Given the description of an element on the screen output the (x, y) to click on. 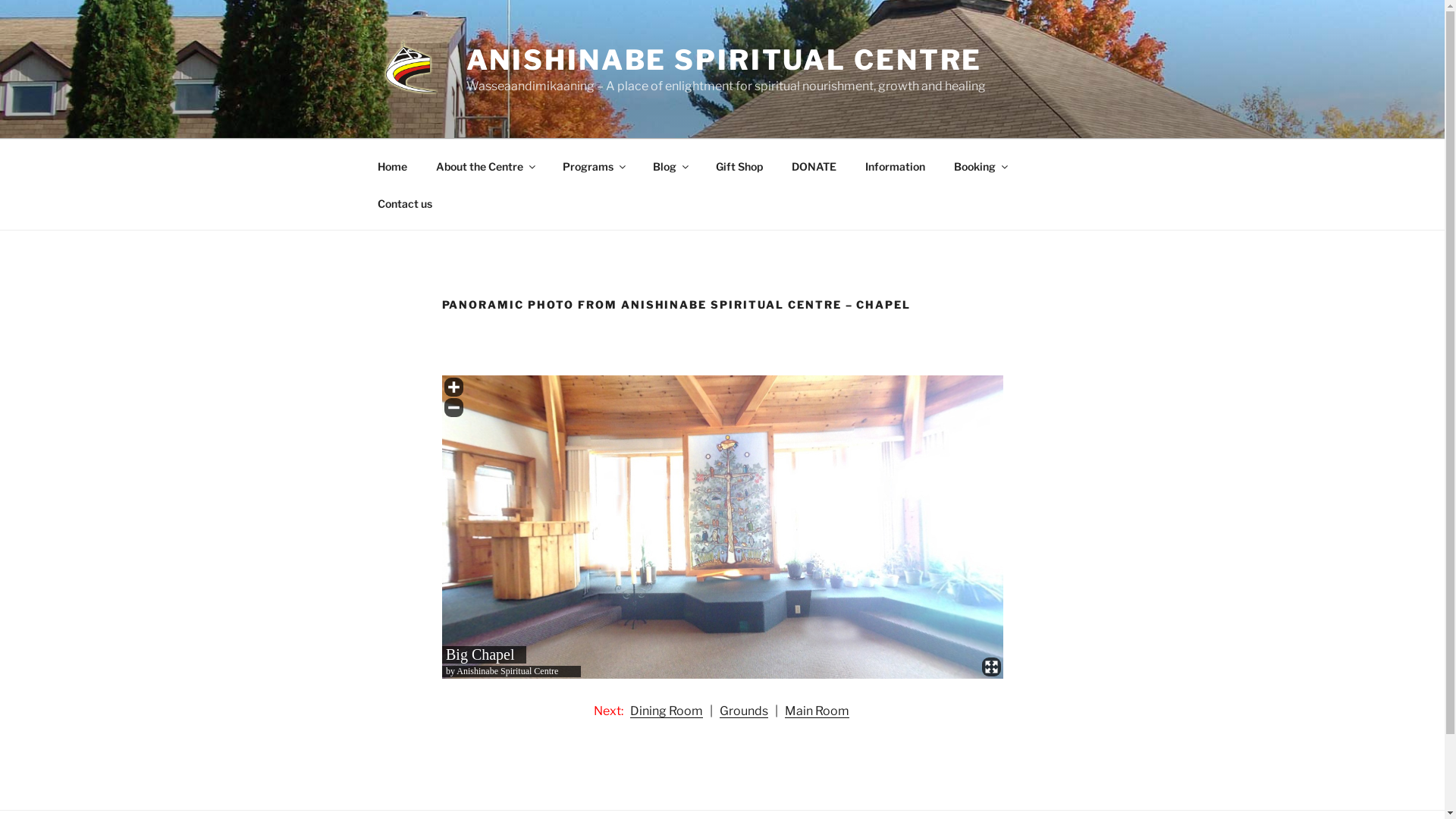
Home Element type: text (392, 165)
Main Room Element type: text (816, 710)
DONATE Element type: text (813, 165)
Blog Element type: text (670, 165)
ANISHINABE SPIRITUAL CENTRE Element type: text (724, 59)
Gift Shop Element type: text (738, 165)
Booking Element type: text (979, 165)
About the Centre Element type: text (485, 165)
Information Element type: text (895, 165)
Programs Element type: text (593, 165)
Dining Room Element type: text (665, 710)
Contact us Element type: text (404, 203)
Grounds Element type: text (742, 710)
pannellum panorama viewer Element type: hover (721, 526)
